Given the description of an element on the screen output the (x, y) to click on. 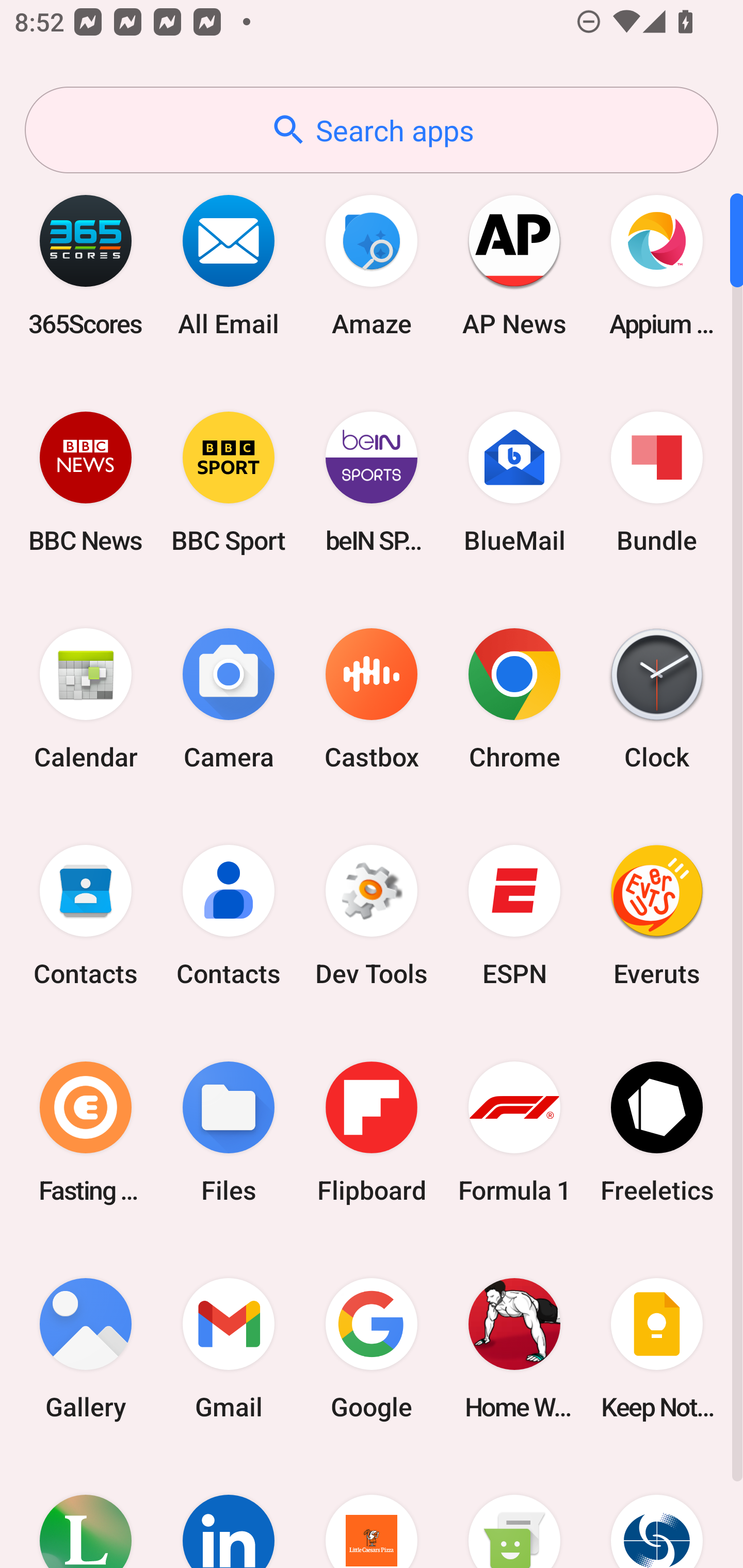
  Search apps (371, 130)
365Scores (85, 264)
All Email (228, 264)
Amaze (371, 264)
AP News (514, 264)
Appium Settings (656, 264)
BBC News (85, 482)
BBC Sport (228, 482)
beIN SPORTS (371, 482)
BlueMail (514, 482)
Bundle (656, 482)
Calendar (85, 699)
Camera (228, 699)
Castbox (371, 699)
Chrome (514, 699)
Clock (656, 699)
Contacts (85, 915)
Contacts (228, 915)
Dev Tools (371, 915)
ESPN (514, 915)
Everuts (656, 915)
Fasting Coach (85, 1131)
Files (228, 1131)
Flipboard (371, 1131)
Formula 1 (514, 1131)
Freeletics (656, 1131)
Gallery (85, 1348)
Gmail (228, 1348)
Google (371, 1348)
Home Workout (514, 1348)
Keep Notes (656, 1348)
